Given the description of an element on the screen output the (x, y) to click on. 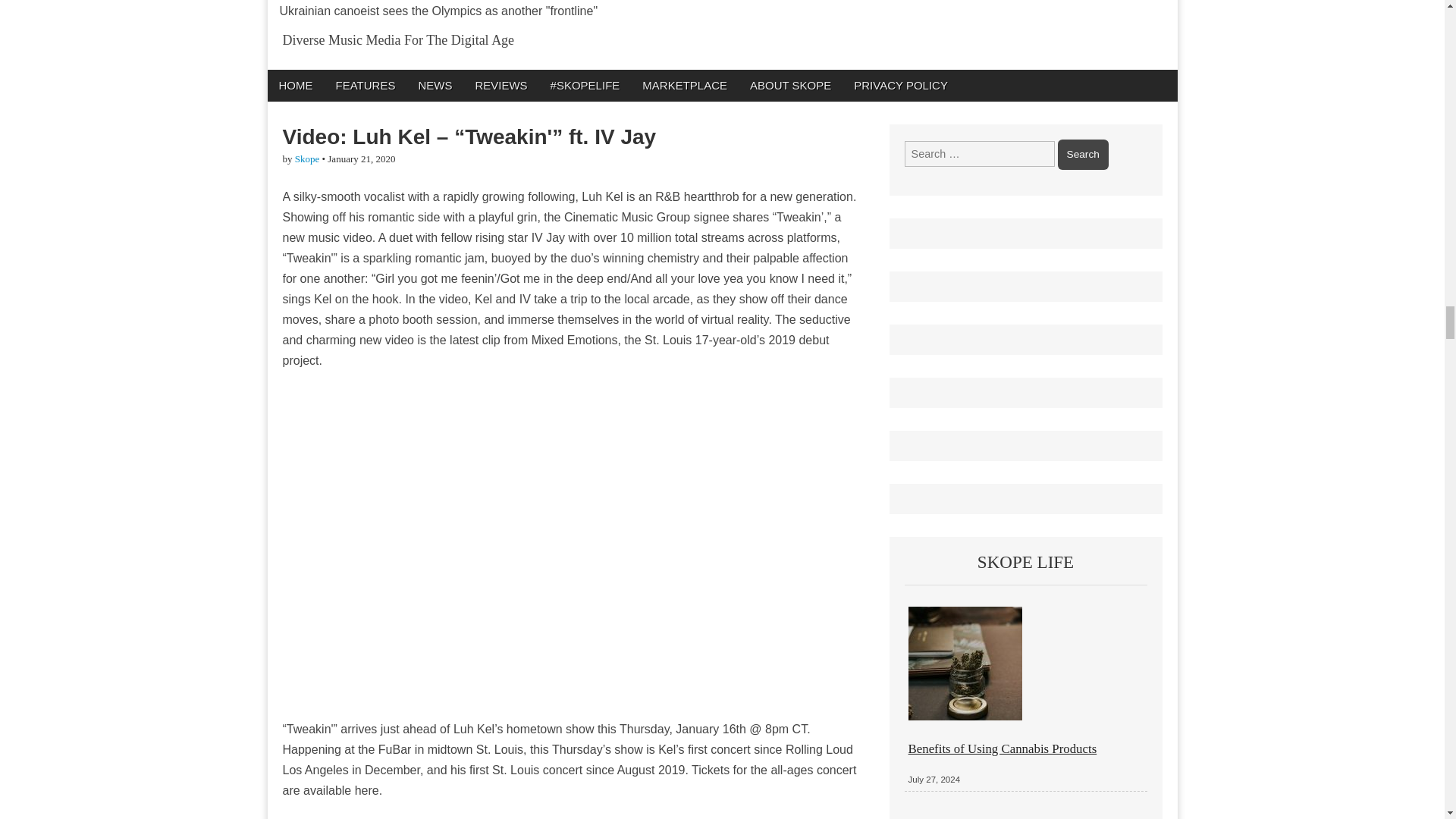
REVIEWS (500, 84)
HOME (294, 84)
MARKETPLACE (684, 84)
ABOUT SKOPE (790, 84)
Search (1083, 154)
Skope (307, 158)
Search (1083, 154)
Search (1083, 154)
PRIVACY POLICY (901, 84)
NEWS (434, 84)
Posts by Skope (307, 158)
Benefits of Using Cannabis Products (1002, 748)
FEATURES (365, 84)
